Given the description of an element on the screen output the (x, y) to click on. 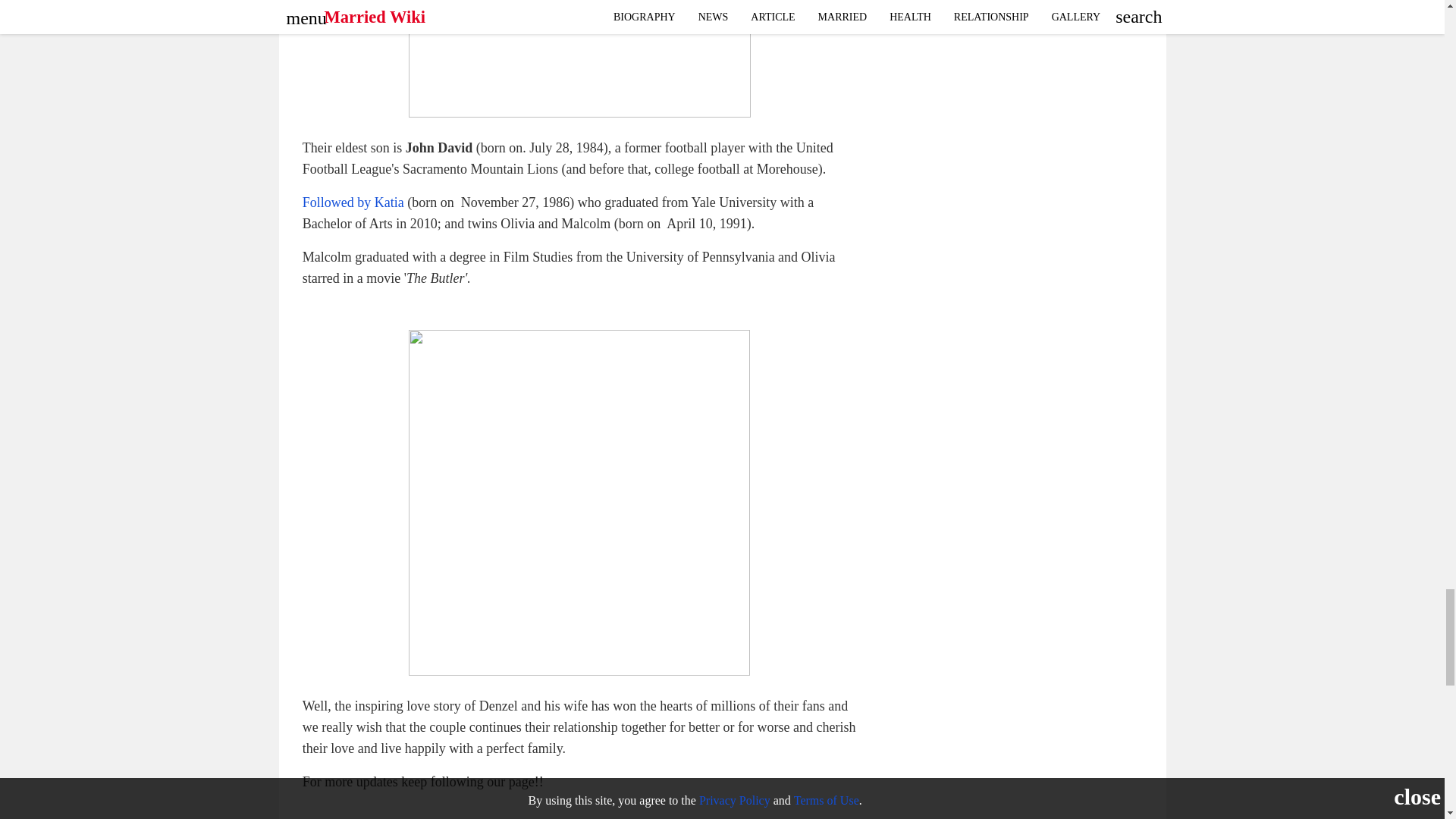
Followed by Katia (353, 201)
